Given the description of an element on the screen output the (x, y) to click on. 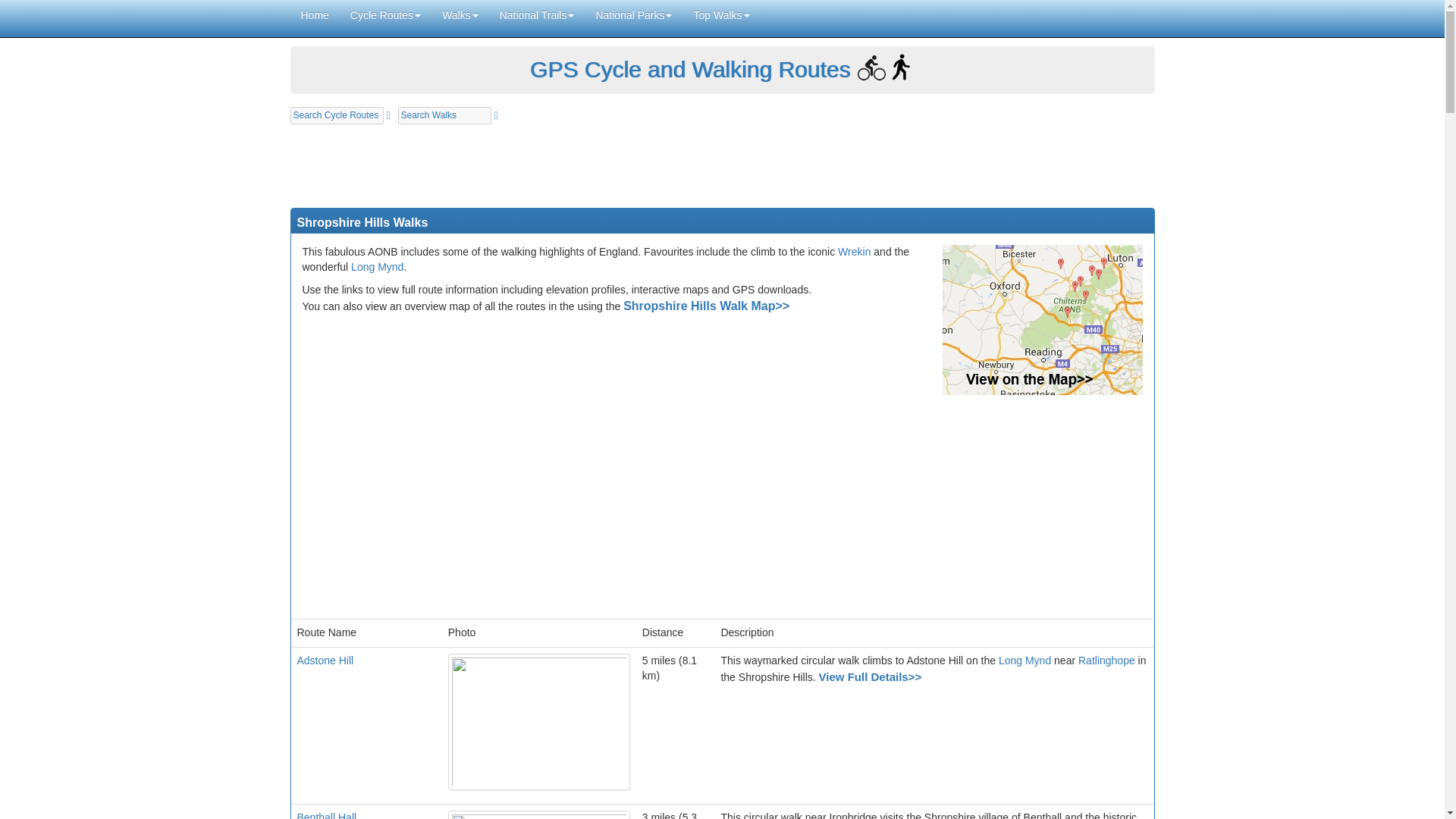
Cycle Routes (384, 15)
National Trails (537, 15)
Walks (459, 15)
Home (314, 15)
